Given the description of an element on the screen output the (x, y) to click on. 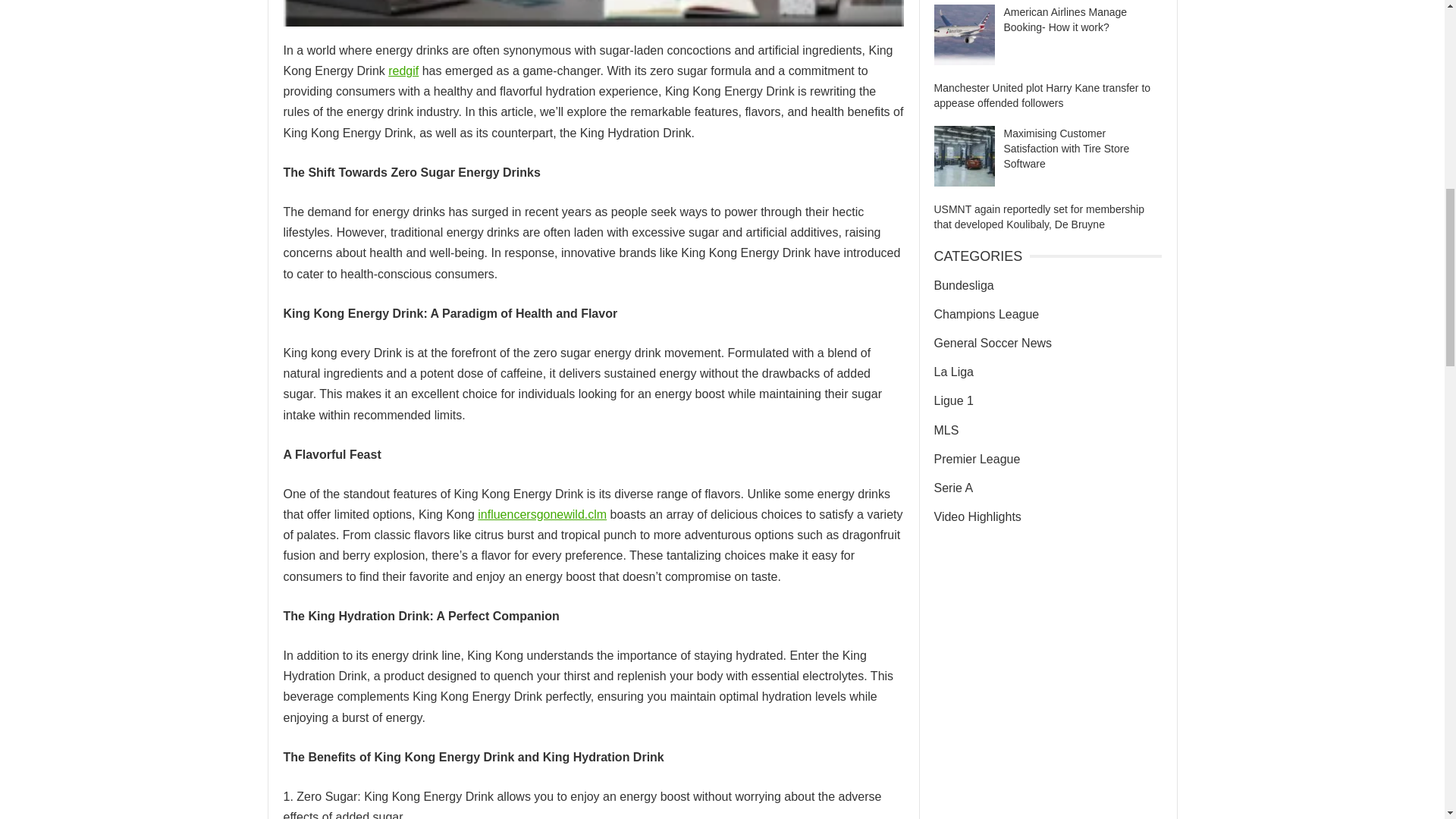
redgif (403, 70)
